Given the description of an element on the screen output the (x, y) to click on. 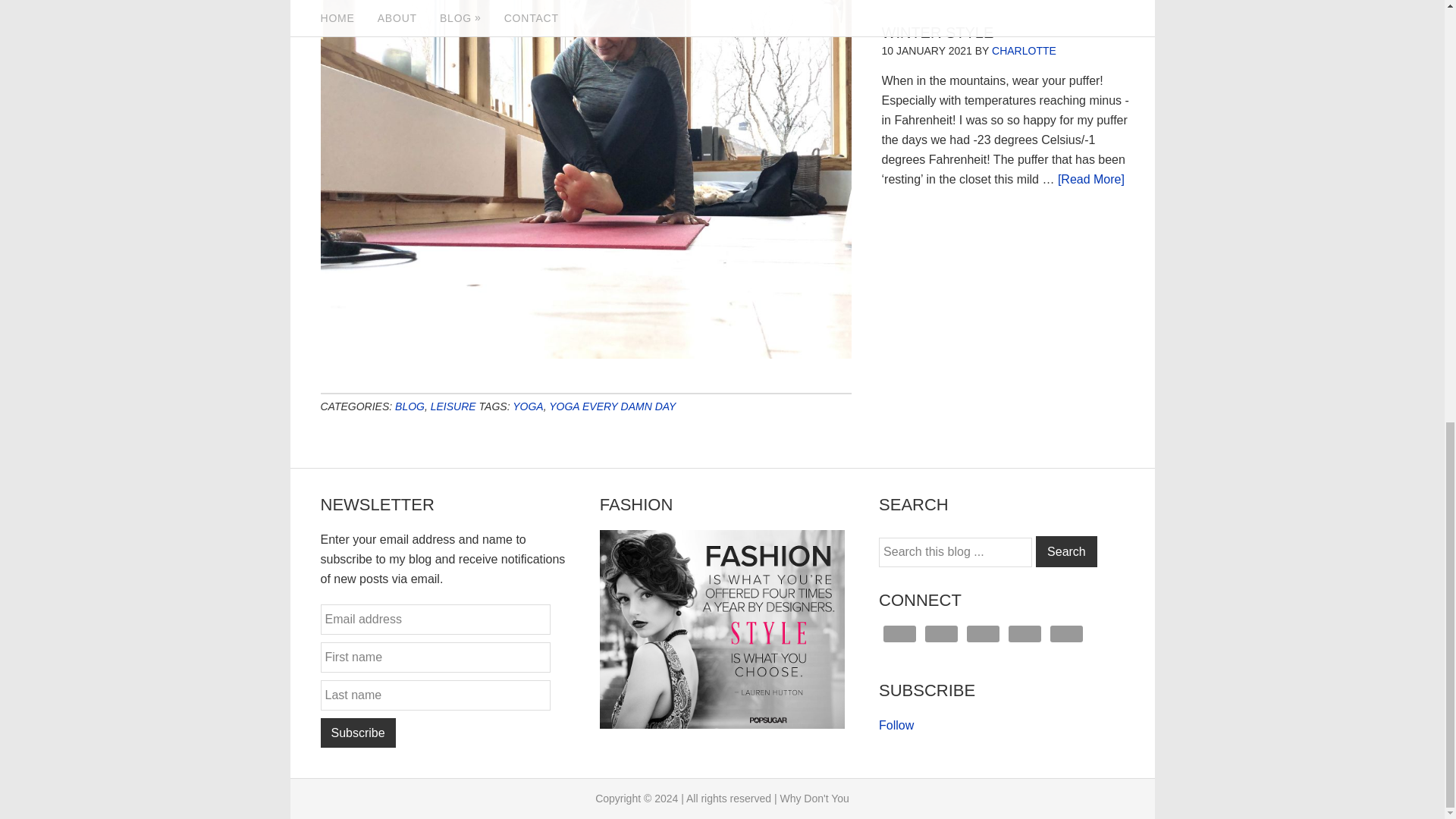
Search (1066, 551)
CHARLOTTE (1024, 50)
YOGA (527, 405)
Search (1066, 551)
YOGA EVERY DAMN DAY (611, 405)
WINTER STYLE (936, 32)
Subscribe (357, 732)
LEISURE (453, 405)
BLOG (409, 405)
Subscribe (357, 732)
Search (1066, 551)
